Given the description of an element on the screen output the (x, y) to click on. 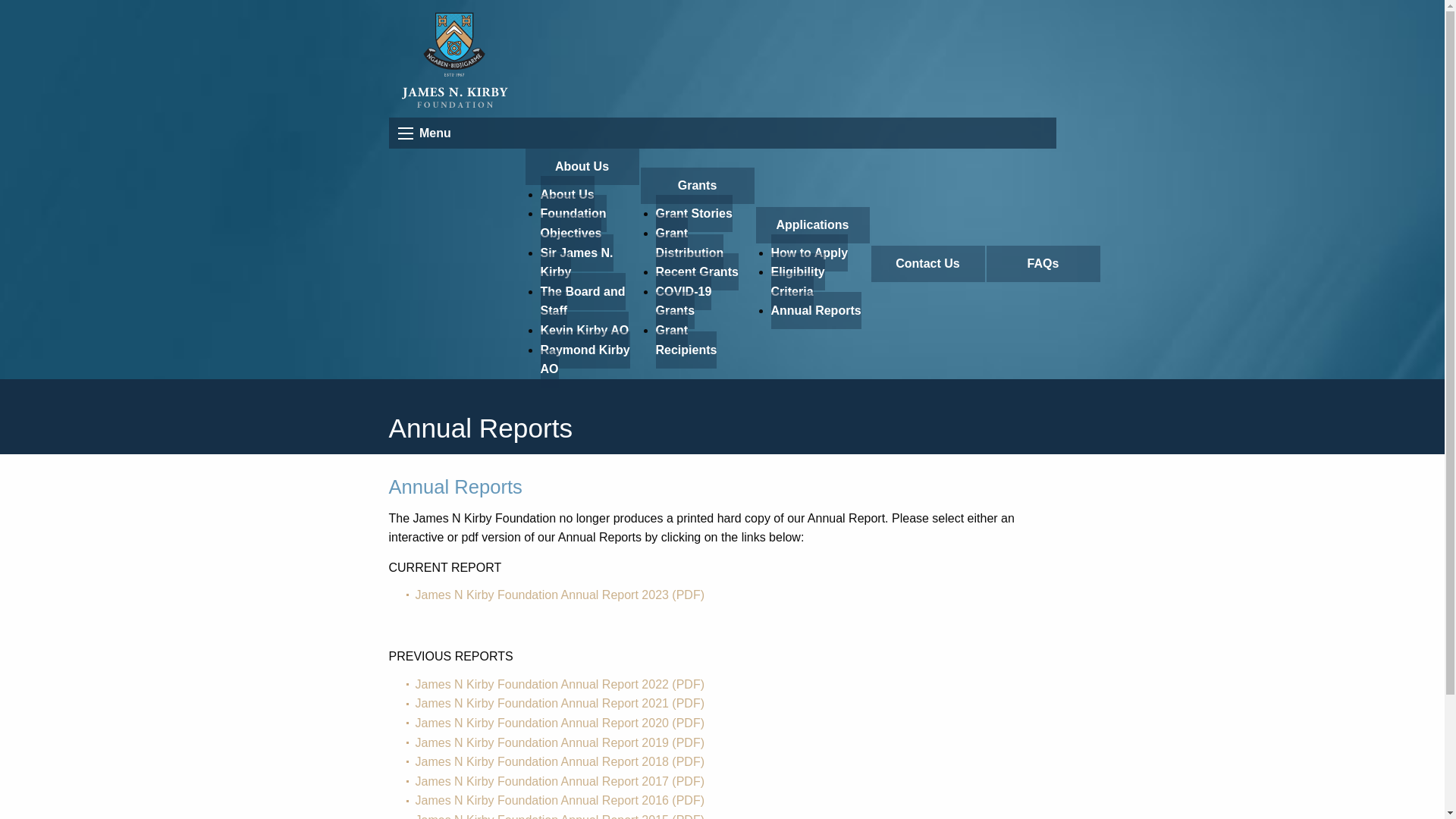
Eligibility Criteria Element type: text (797, 281)
James N Kirby Foundation Annual Report 2023 (PDF) Element type: text (560, 594)
James N Kirby Foundation Annual Report 2020 (PDF) Element type: text (560, 722)
James N Kirby Foundation Annual Report 2019 (PDF) Element type: text (560, 742)
FAQs Element type: text (1042, 263)
About Us Element type: text (566, 194)
Contact Us Element type: text (927, 263)
James N Kirby Foundation Annual Report 2018 (PDF) Element type: text (560, 761)
James N Kirby Foundation Annual Report 2017 (PDF) Element type: text (560, 781)
Grant Distribution Element type: text (689, 242)
About Us Element type: text (581, 166)
Grant Recipients Element type: text (685, 339)
COVID-19 Grants Element type: text (683, 301)
Applications Element type: text (812, 225)
James N Kirby Foundation Annual Report 2021 (PDF) Element type: text (560, 702)
Recent Grants Element type: text (696, 271)
Grants Element type: text (696, 185)
Raymond Kirby AO Element type: text (584, 359)
Sir James N. Kirby Element type: text (575, 262)
Grant Stories Element type: text (693, 213)
The Board and Staff Element type: text (581, 301)
Kevin Kirby AO Element type: text (583, 329)
James N Kirby Foundation Annual Report 2016 (PDF) Element type: text (560, 799)
Annual Reports Element type: text (815, 310)
Foundation Objectives Element type: text (572, 222)
James N Kirby Foundation Annual Report 2022 (PDF) Element type: text (560, 683)
How to Apply Element type: text (808, 252)
